Given the description of an element on the screen output the (x, y) to click on. 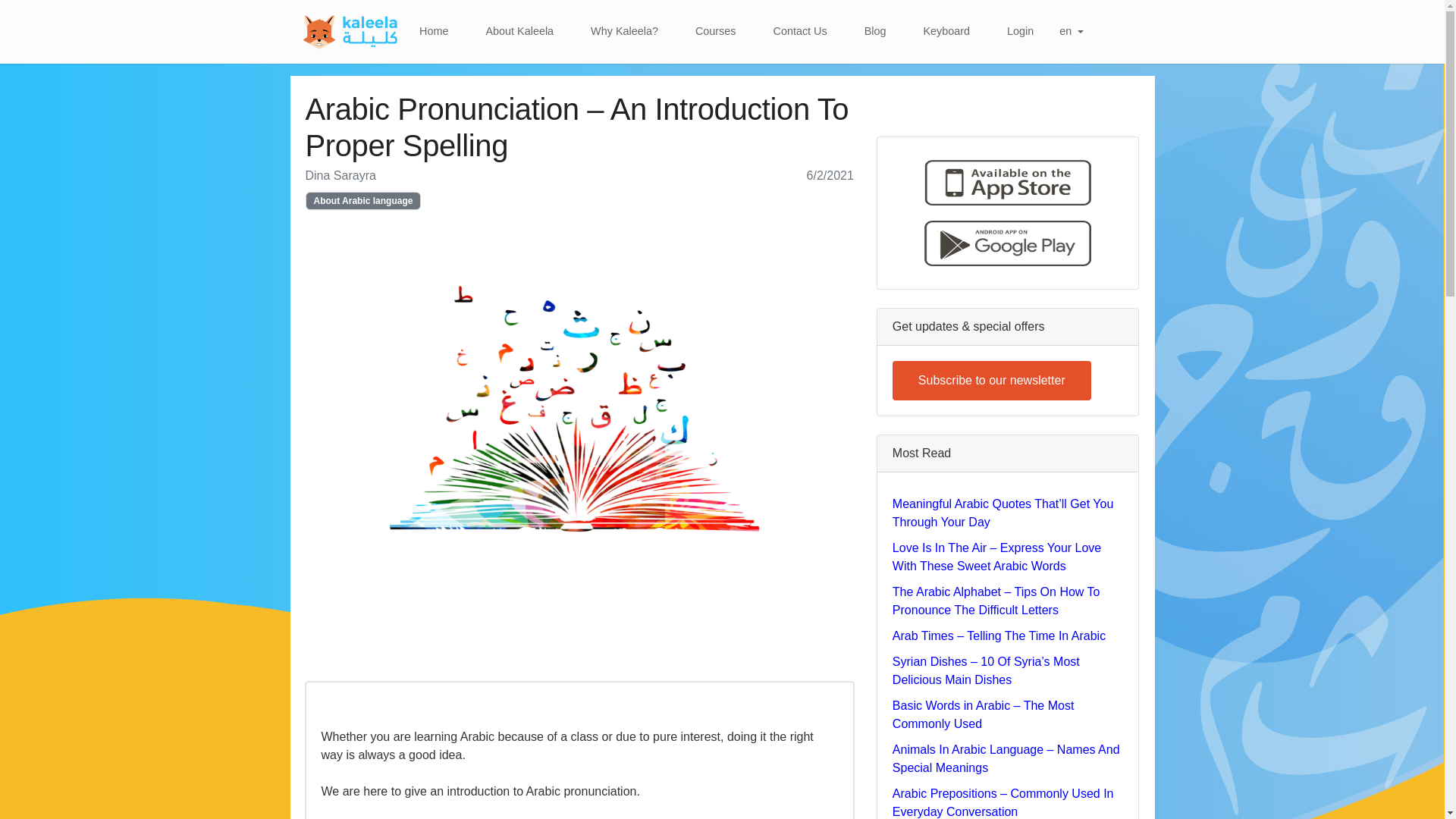
en (1070, 31)
Courses (715, 31)
Blog (874, 31)
Why Kaleela? (624, 31)
Home (433, 31)
Contact Us (800, 31)
About Arabic language (362, 200)
Keyboard (946, 31)
About Kaleela (519, 31)
Login (1019, 31)
